Given the description of an element on the screen output the (x, y) to click on. 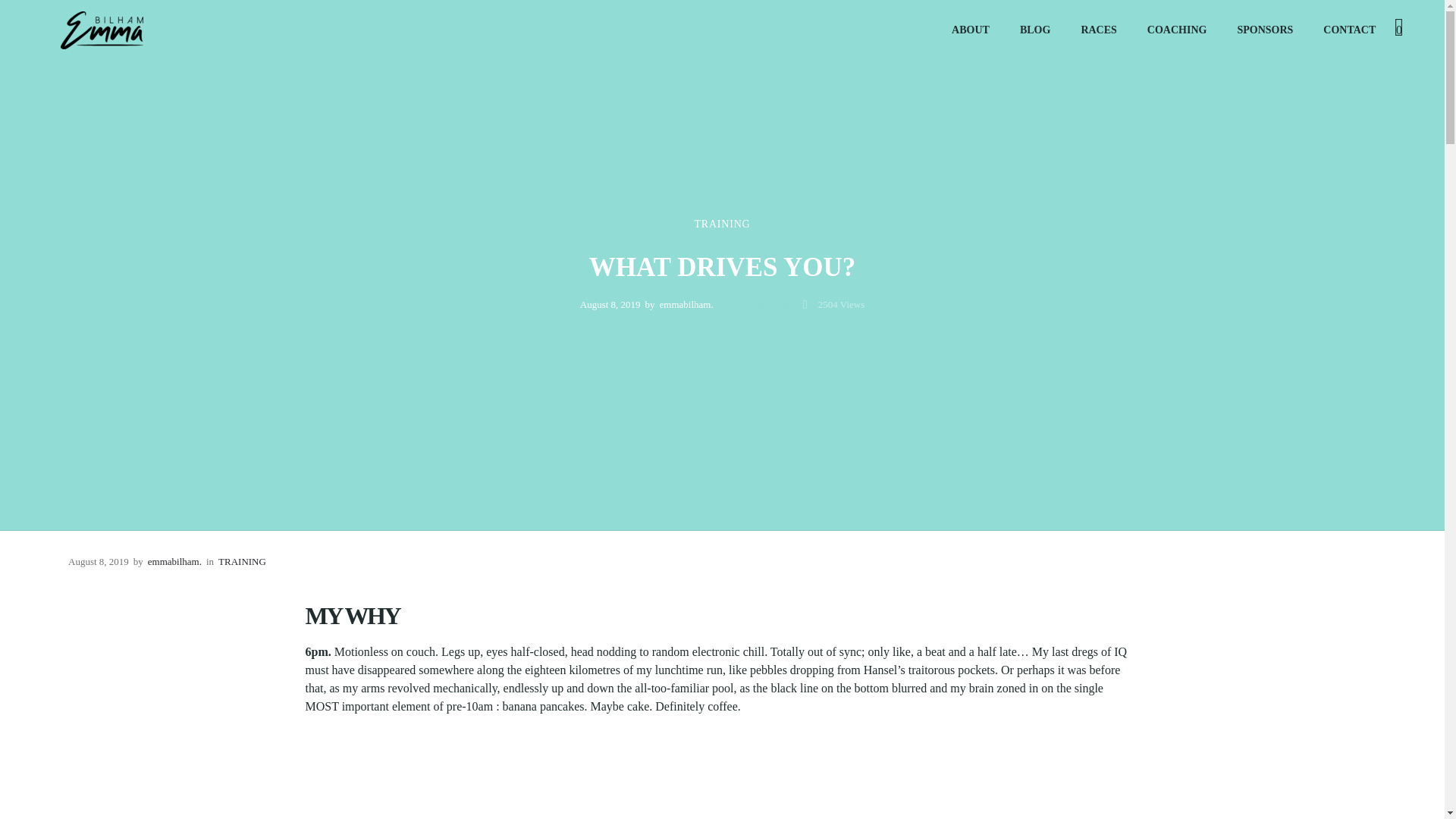
SPONSORS (1264, 30)
COACHING (1177, 30)
0 Comments (765, 303)
TRAINING (721, 224)
RACES (1098, 30)
emmabilham. (175, 561)
0 (1398, 30)
TRAINING (242, 561)
BLOG (1034, 30)
emmabilham. (686, 303)
CONTACT (1348, 30)
ABOUT (970, 30)
